Given the description of an element on the screen output the (x, y) to click on. 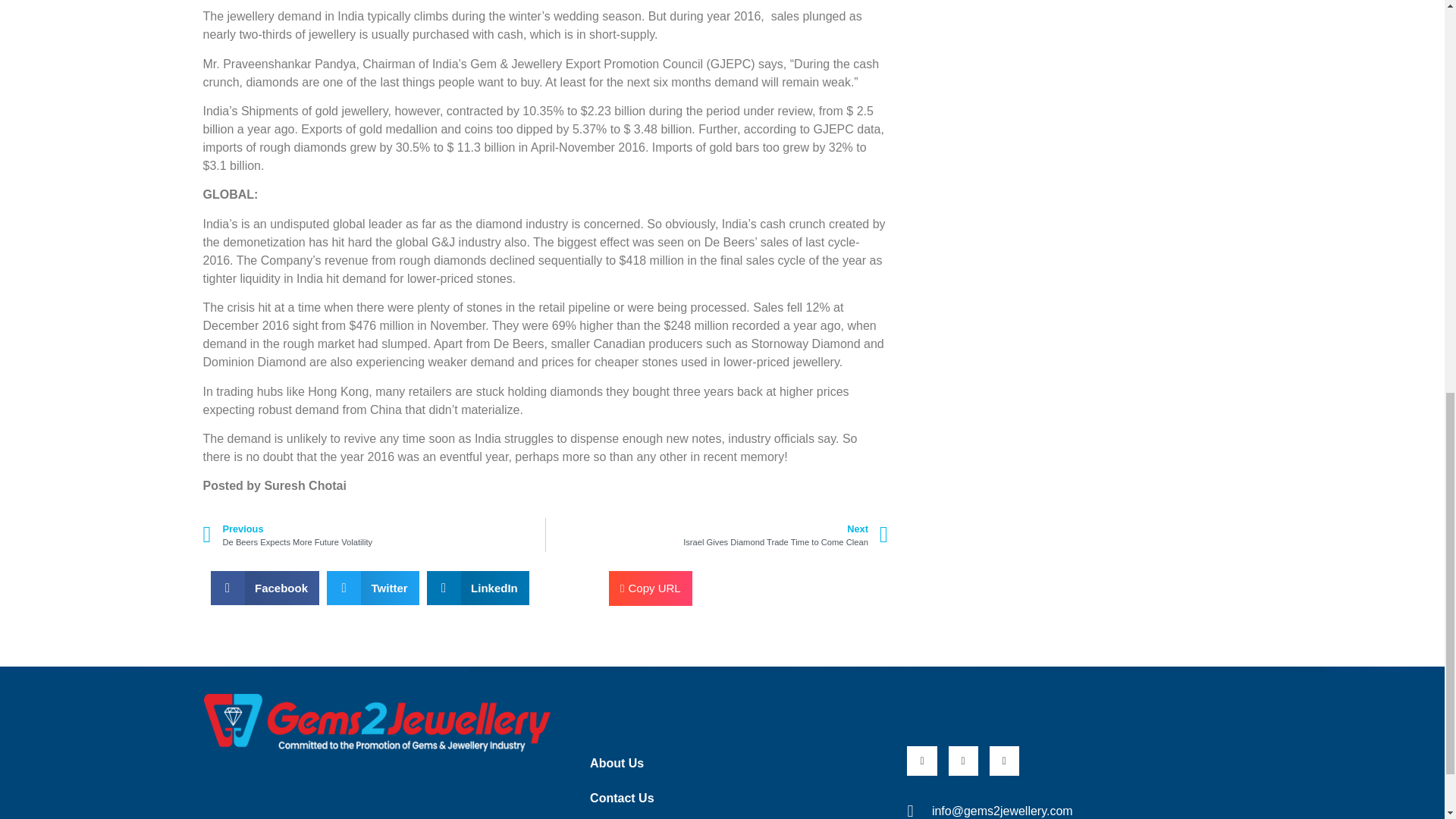
About Us (728, 763)
Contact Us (728, 798)
Copy URL (650, 588)
